Given the description of an element on the screen output the (x, y) to click on. 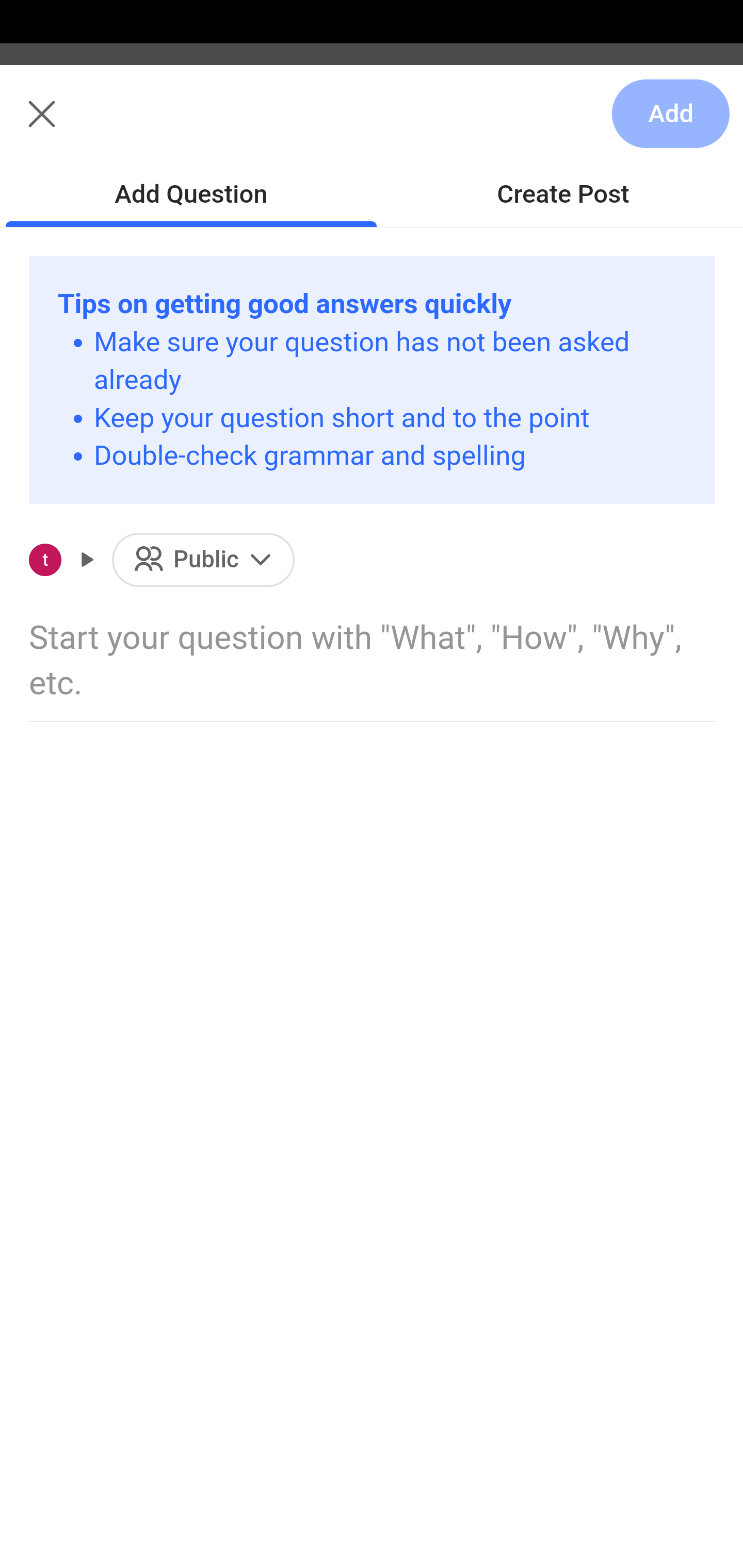
Me (64, 125)
